Given the description of an element on the screen output the (x, y) to click on. 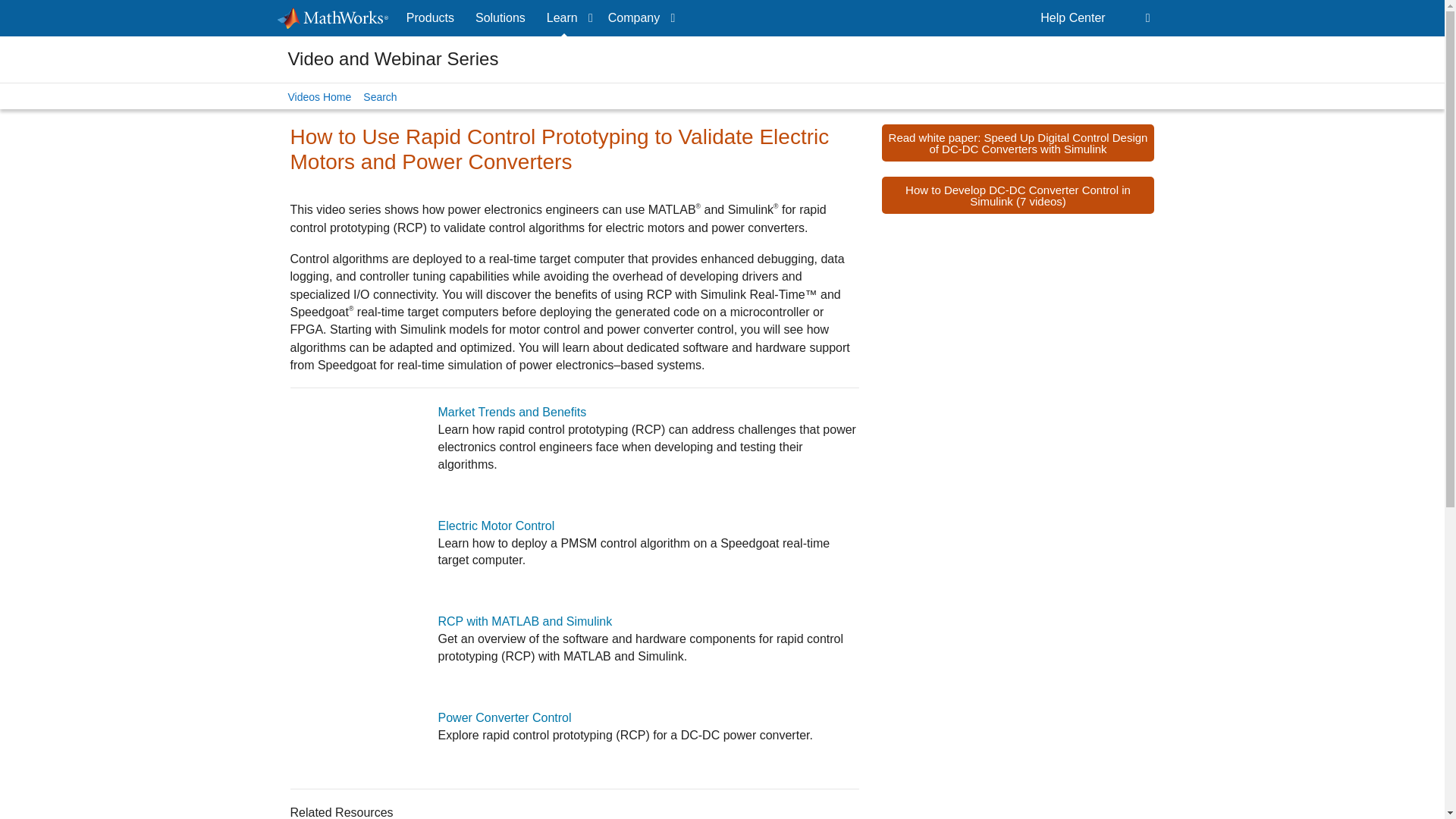
Market Trends and Benefits (512, 411)
Products (430, 18)
Solutions (499, 18)
Electric Motor Control (496, 525)
RCP with MATLAB and Simulink (525, 621)
Help Center (1071, 18)
Learn (566, 18)
Power Converter Control (505, 717)
Company (638, 18)
